Given the description of an element on the screen output the (x, y) to click on. 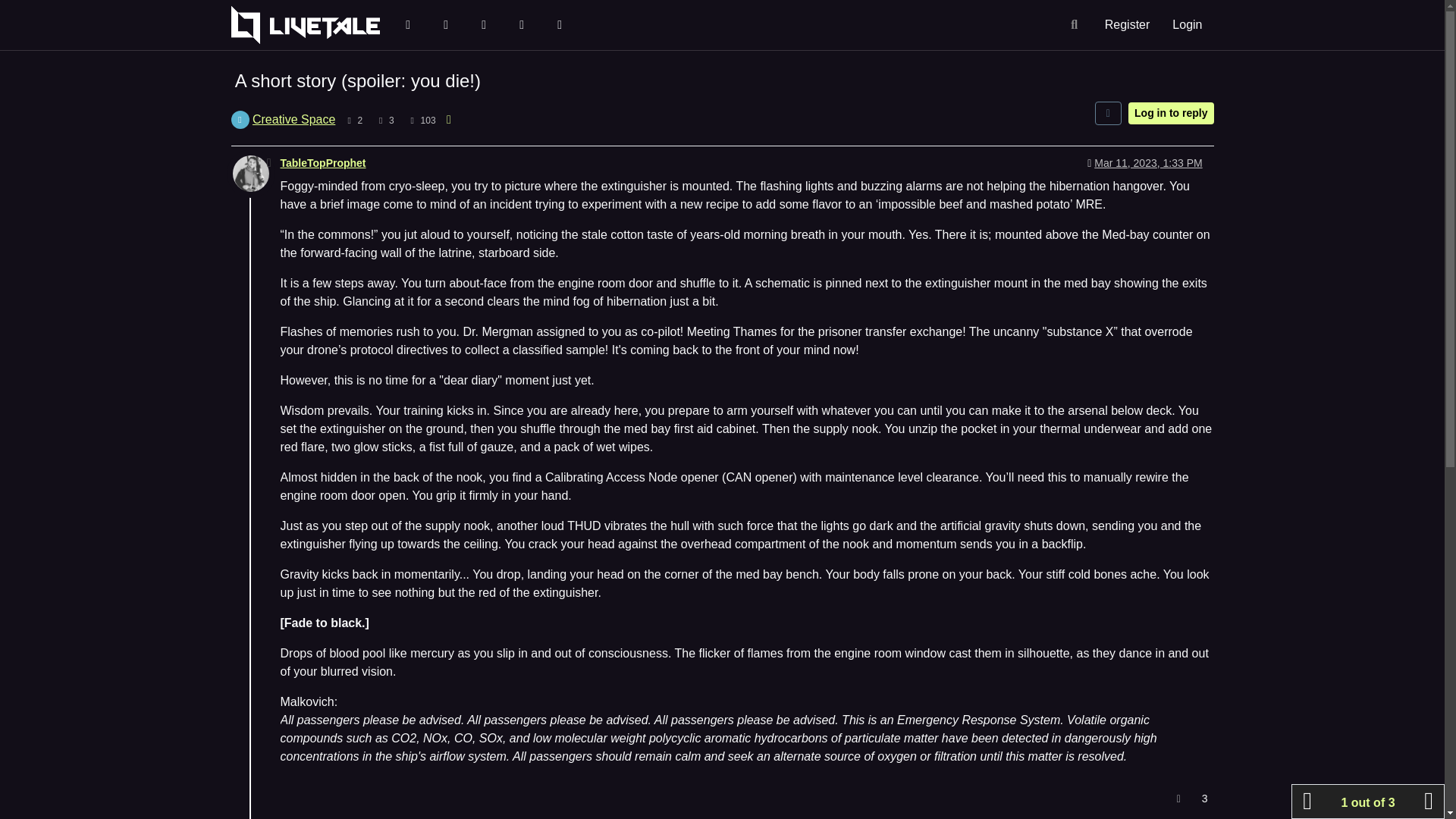
TableTopProphet (323, 162)
Categories (407, 24)
Mar 11, 2023, 1:33 PM (1148, 162)
Search (1074, 24)
Users (559, 24)
Posters (349, 120)
Tags (483, 24)
Log in to reply (1170, 113)
Recent (445, 24)
Creative Space (292, 119)
Login (1186, 24)
Register (1127, 24)
Popular (521, 24)
